Given the description of an element on the screen output the (x, y) to click on. 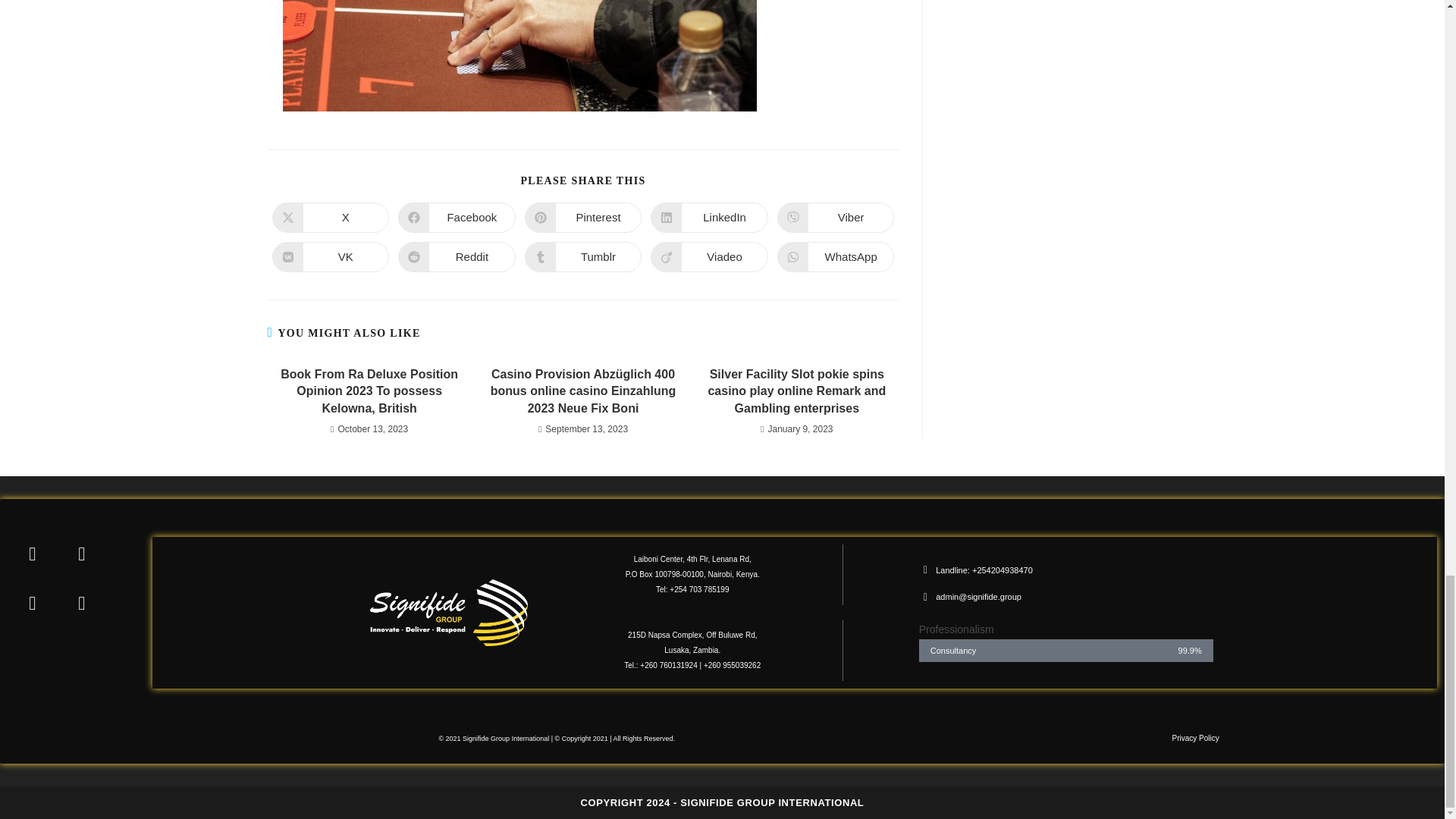
Pinterest (583, 217)
Facebook (456, 217)
LinkedIn (709, 217)
X (329, 217)
WhatsApp (836, 256)
Viber (836, 217)
Reddit (456, 256)
VK (329, 256)
Viadeo (709, 256)
Tumblr (583, 256)
